Given the description of an element on the screen output the (x, y) to click on. 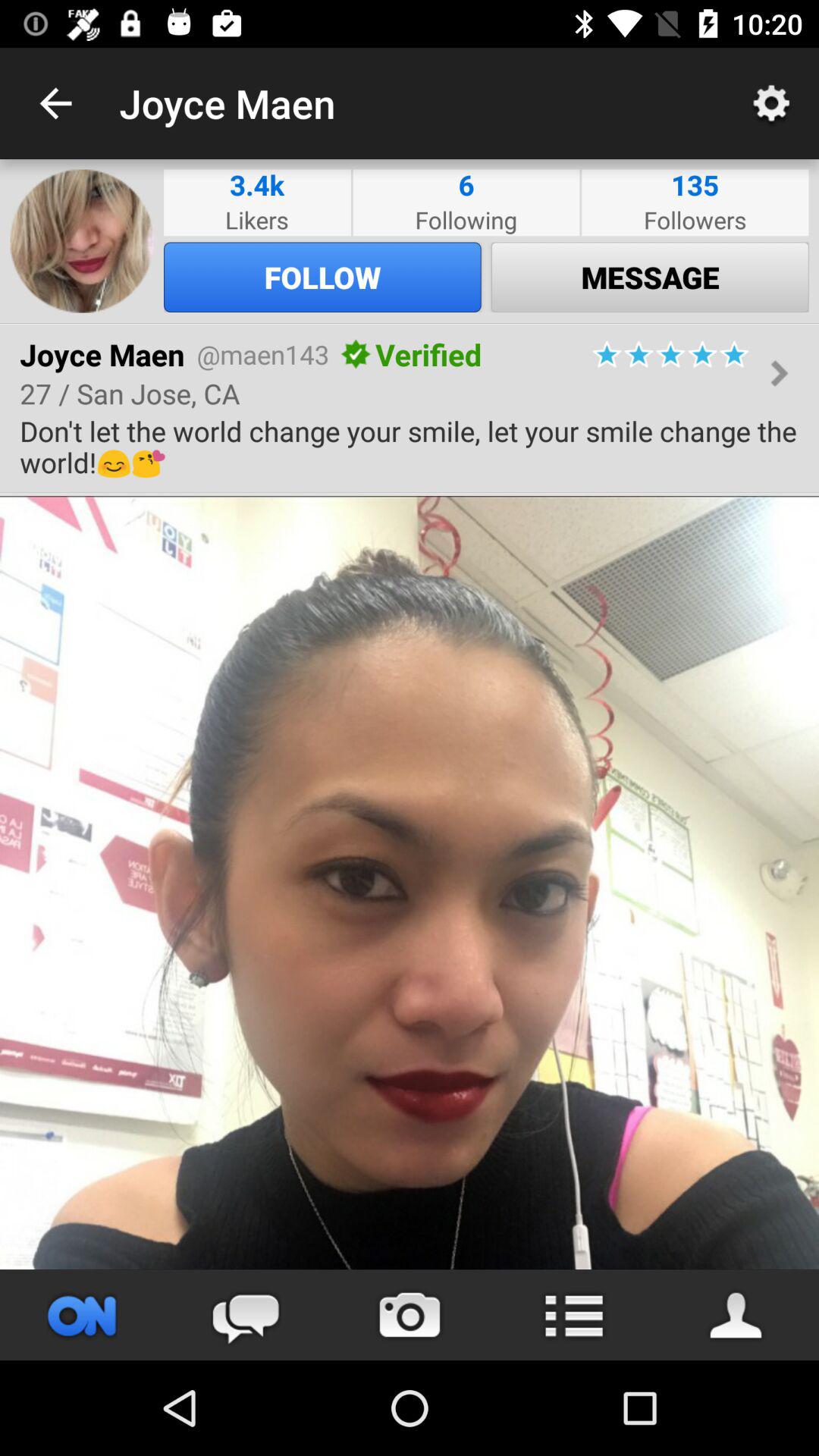
tap icon to the right of the follow (649, 277)
